Given the description of an element on the screen output the (x, y) to click on. 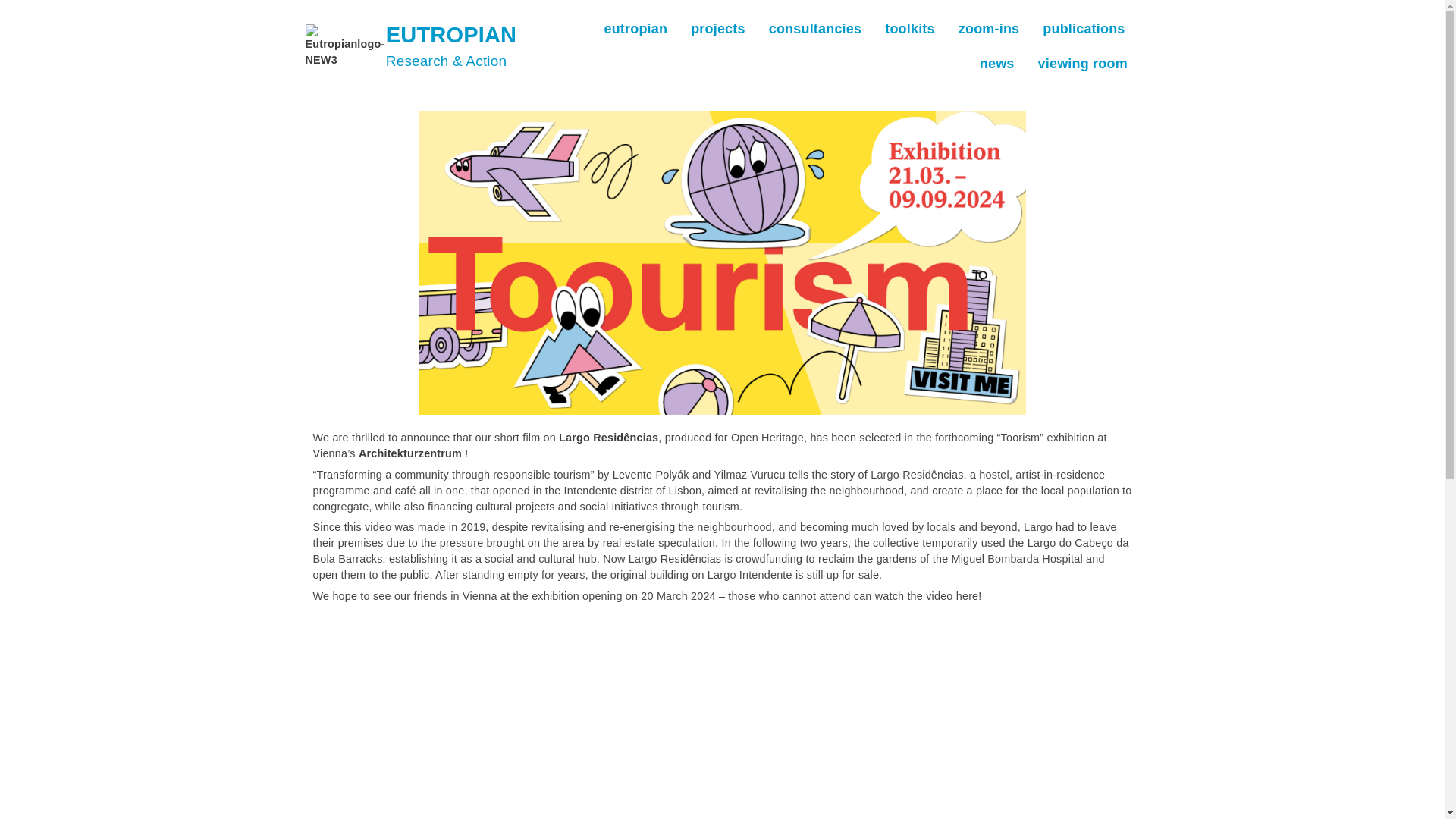
eutropian (635, 28)
zoom-ins (989, 28)
toolkits (909, 28)
news (997, 63)
consultancies (815, 28)
projects (717, 28)
EUTROPIAN (450, 34)
Eutropianlogo-NEW3 (344, 45)
viewing room (1083, 63)
publications (1083, 28)
